Given the description of an element on the screen output the (x, y) to click on. 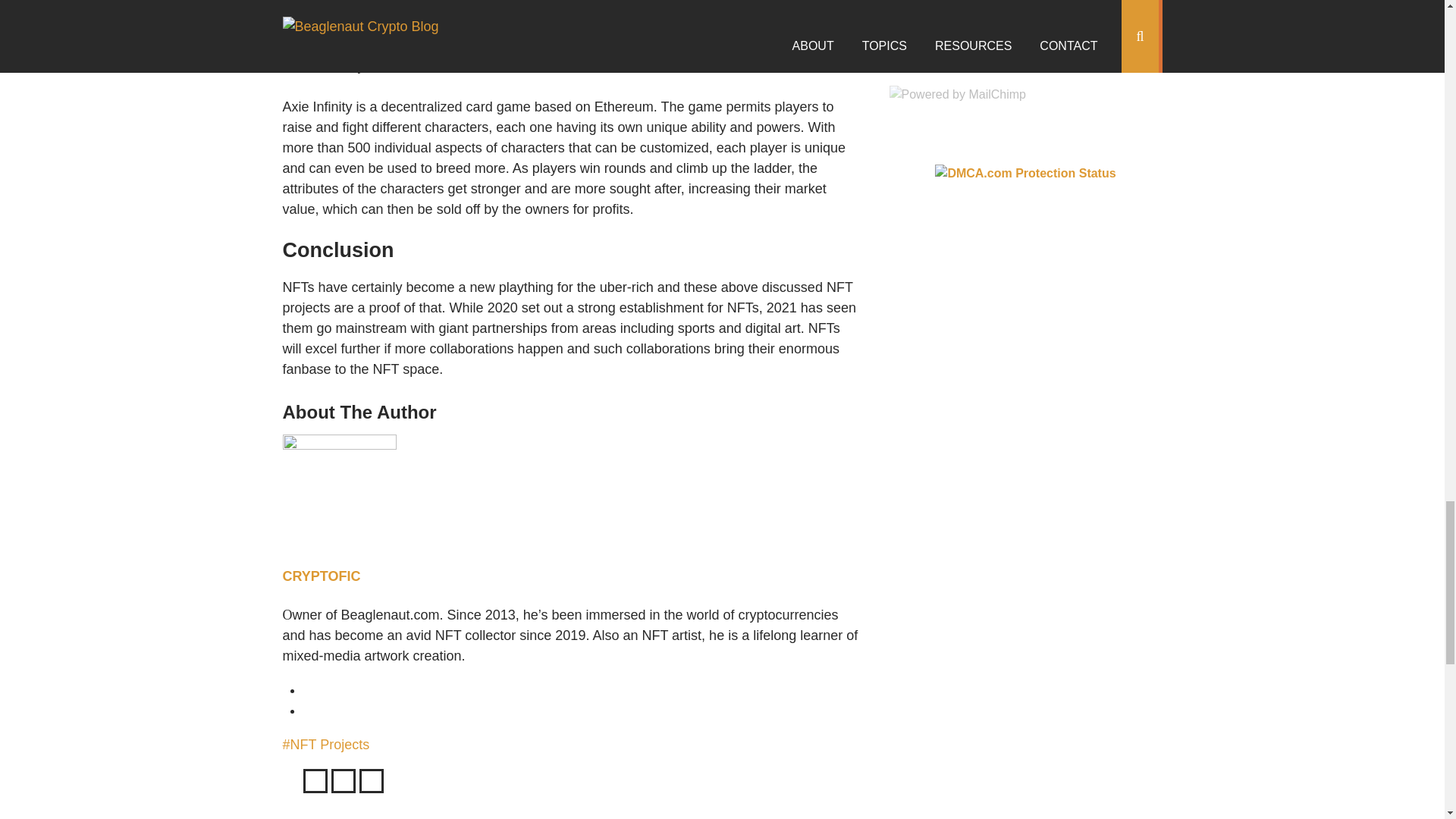
CRYPTOFIC (320, 575)
Sign up (1024, 55)
DMCA.com Protection Status (1024, 173)
Axie Infinity (352, 33)
